Given the description of an element on the screen output the (x, y) to click on. 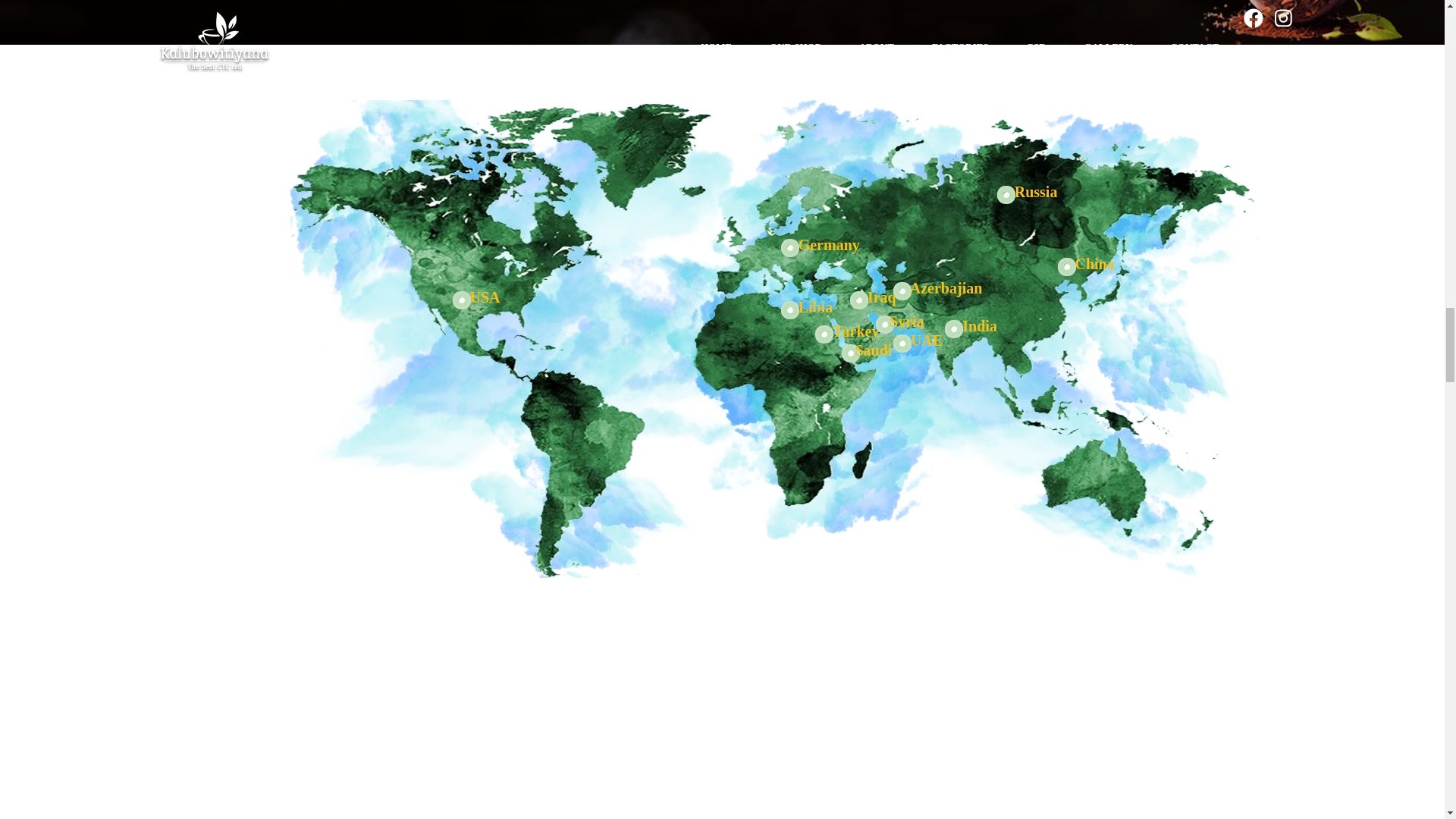
Azerbajian (902, 291)
Syria (885, 324)
India (953, 328)
UAE (858, 300)
Russia (1006, 194)
Saudi (850, 353)
United States (461, 300)
China (1065, 266)
Libia (790, 309)
Germany (790, 247)
UAE (902, 343)
UAE (824, 334)
